Given the description of an element on the screen output the (x, y) to click on. 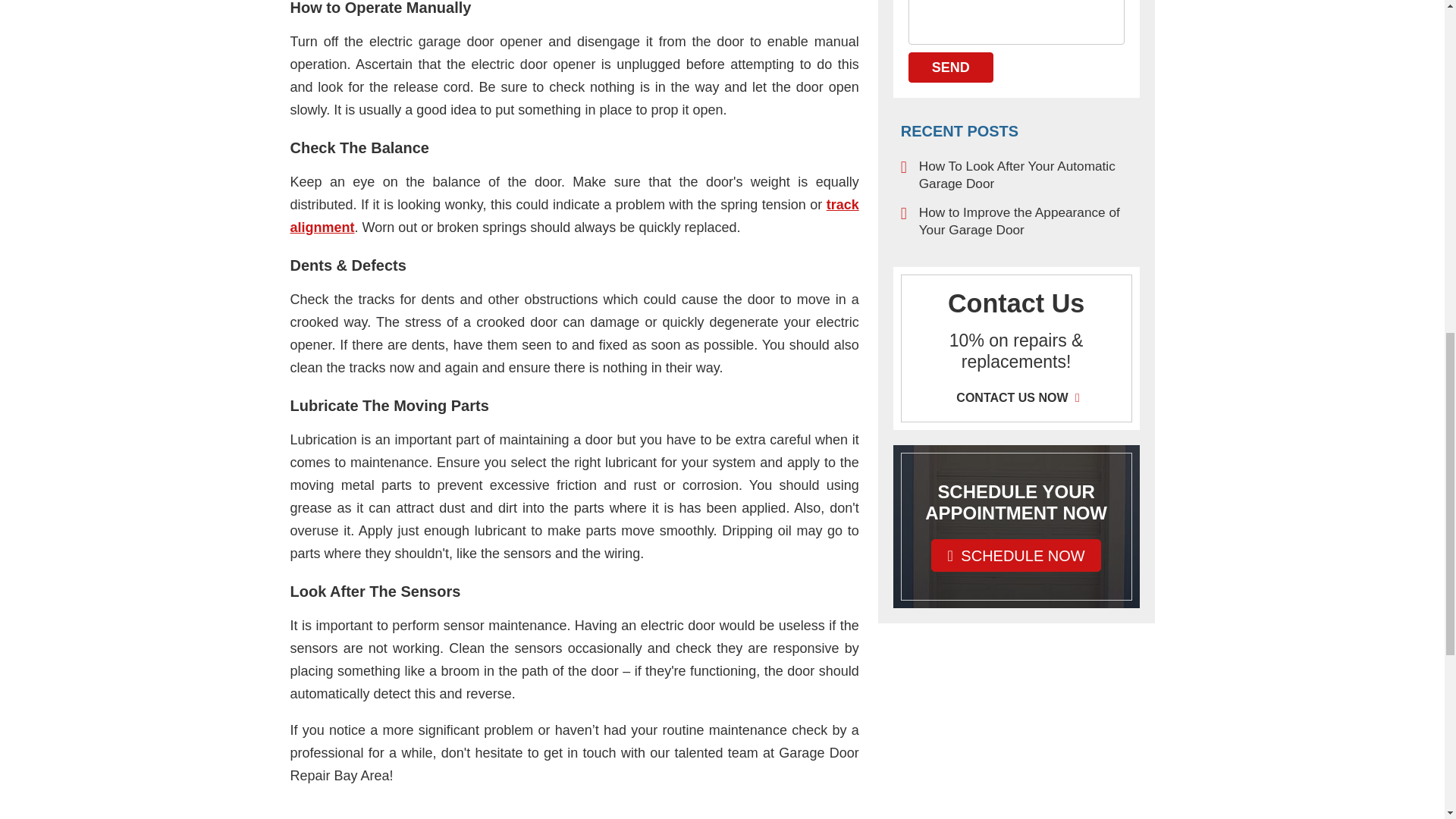
check tracks for alignment (574, 216)
SEND (950, 67)
